Given the description of an element on the screen output the (x, y) to click on. 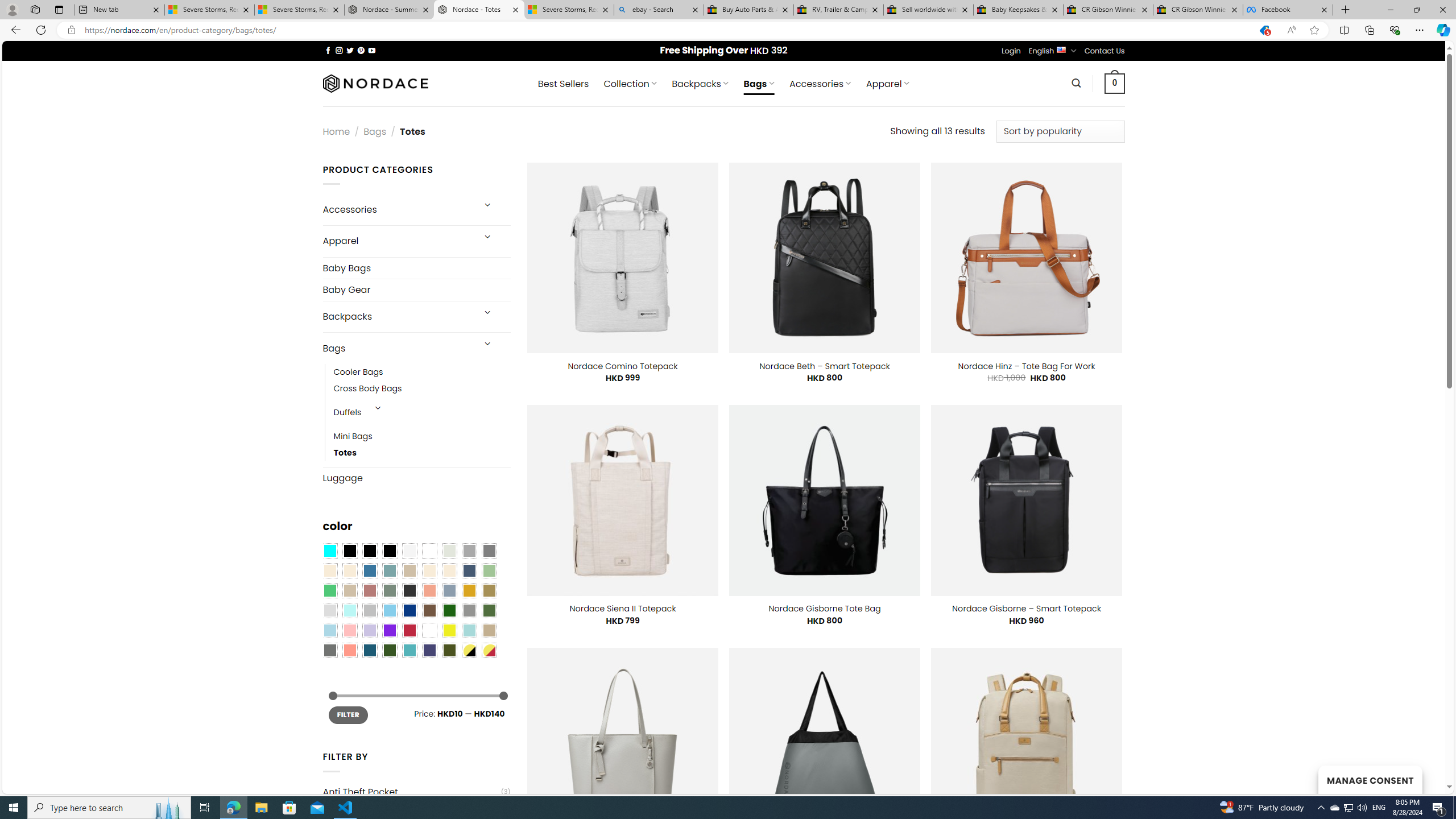
MANAGE CONSENT (1369, 779)
Backpacks (397, 316)
All Black (349, 550)
Home (335, 131)
